Given the description of an element on the screen output the (x, y) to click on. 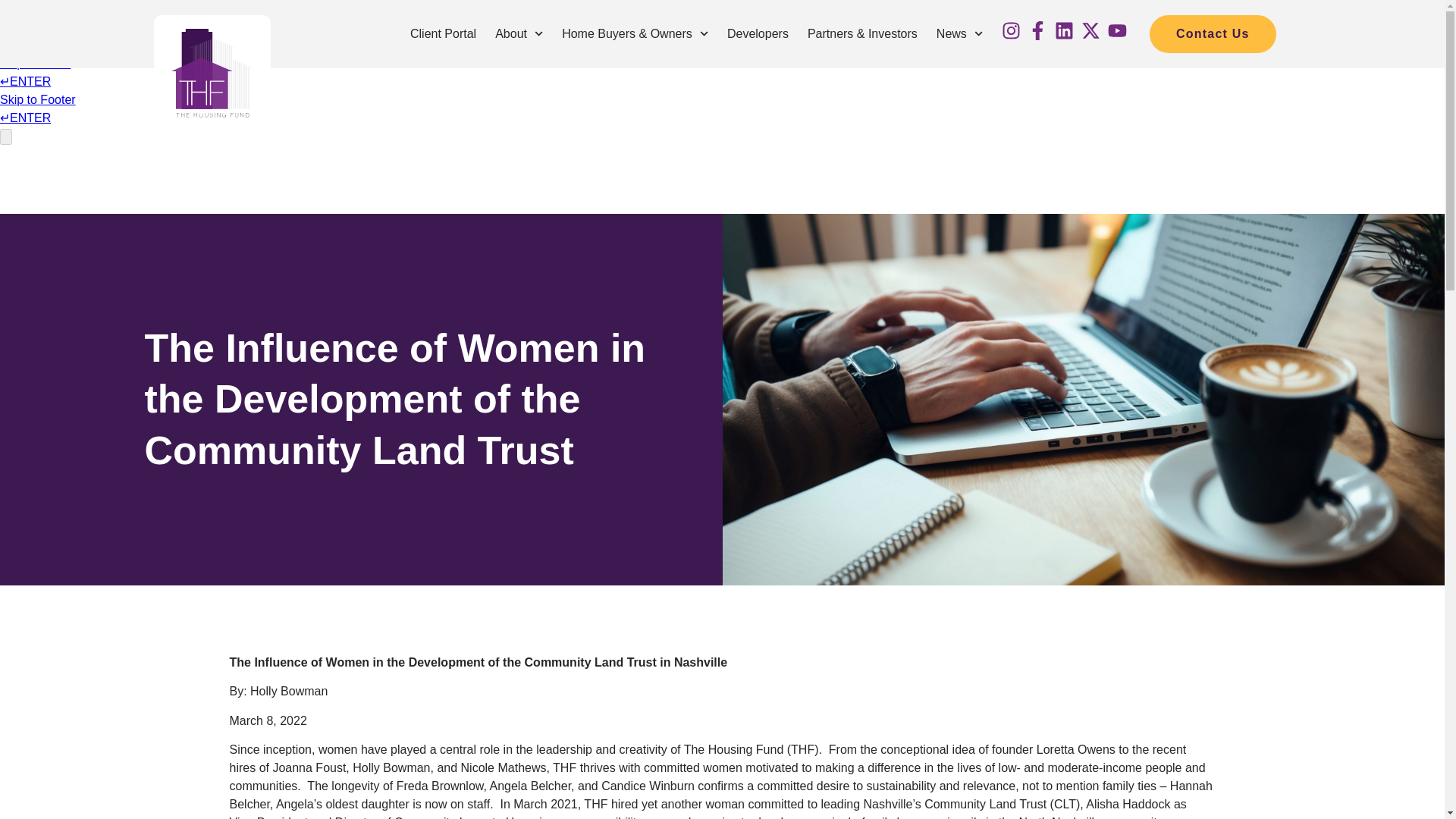
Developers (757, 34)
News (960, 34)
About (519, 34)
Client Portal (443, 34)
Contact Us (1212, 33)
